Given the description of an element on the screen output the (x, y) to click on. 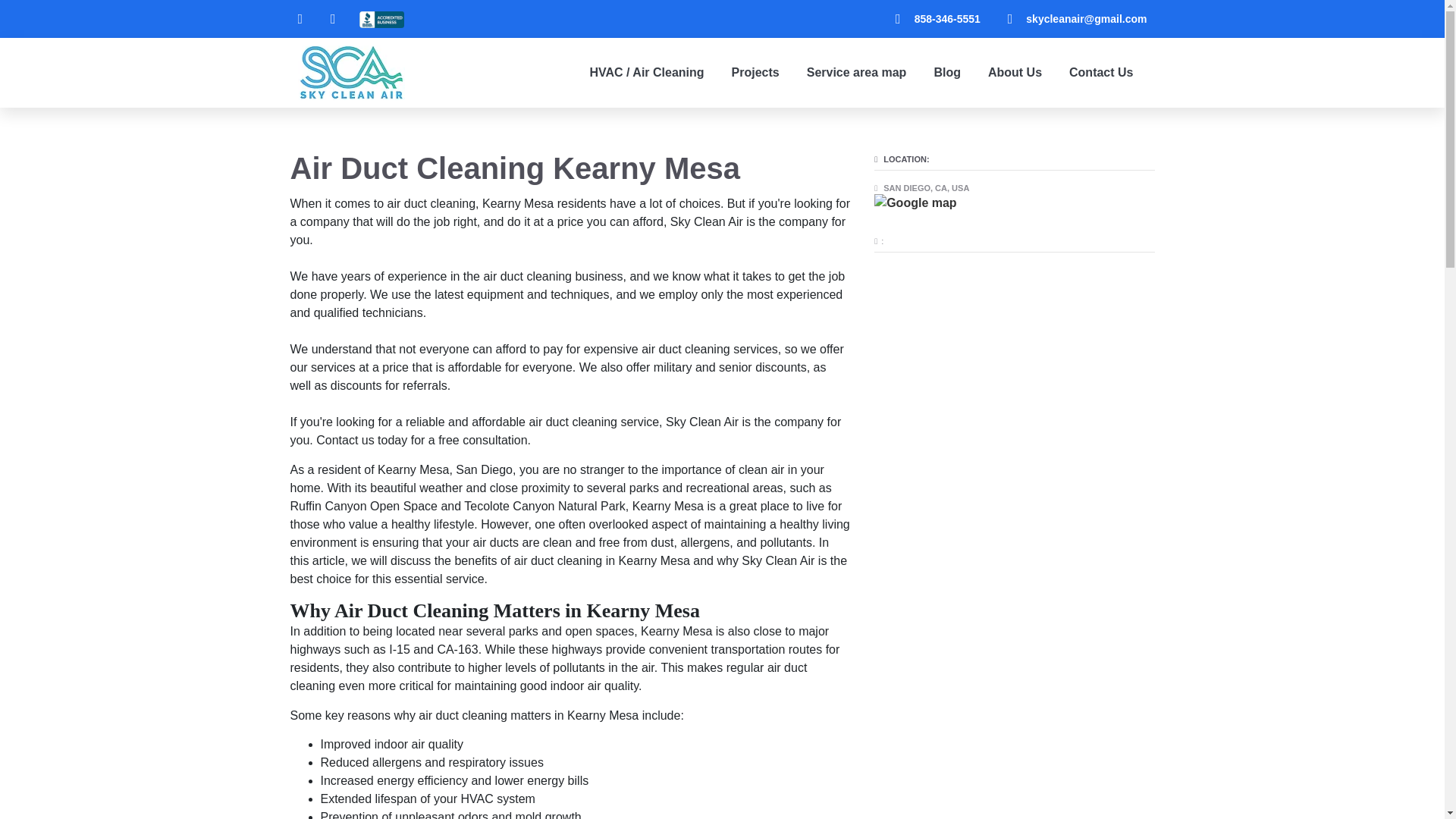
Projects (755, 72)
858-346-5551 (931, 18)
Service area map (856, 72)
Blog (947, 72)
About Us (1014, 72)
Contact Us (1101, 72)
